Given the description of an element on the screen output the (x, y) to click on. 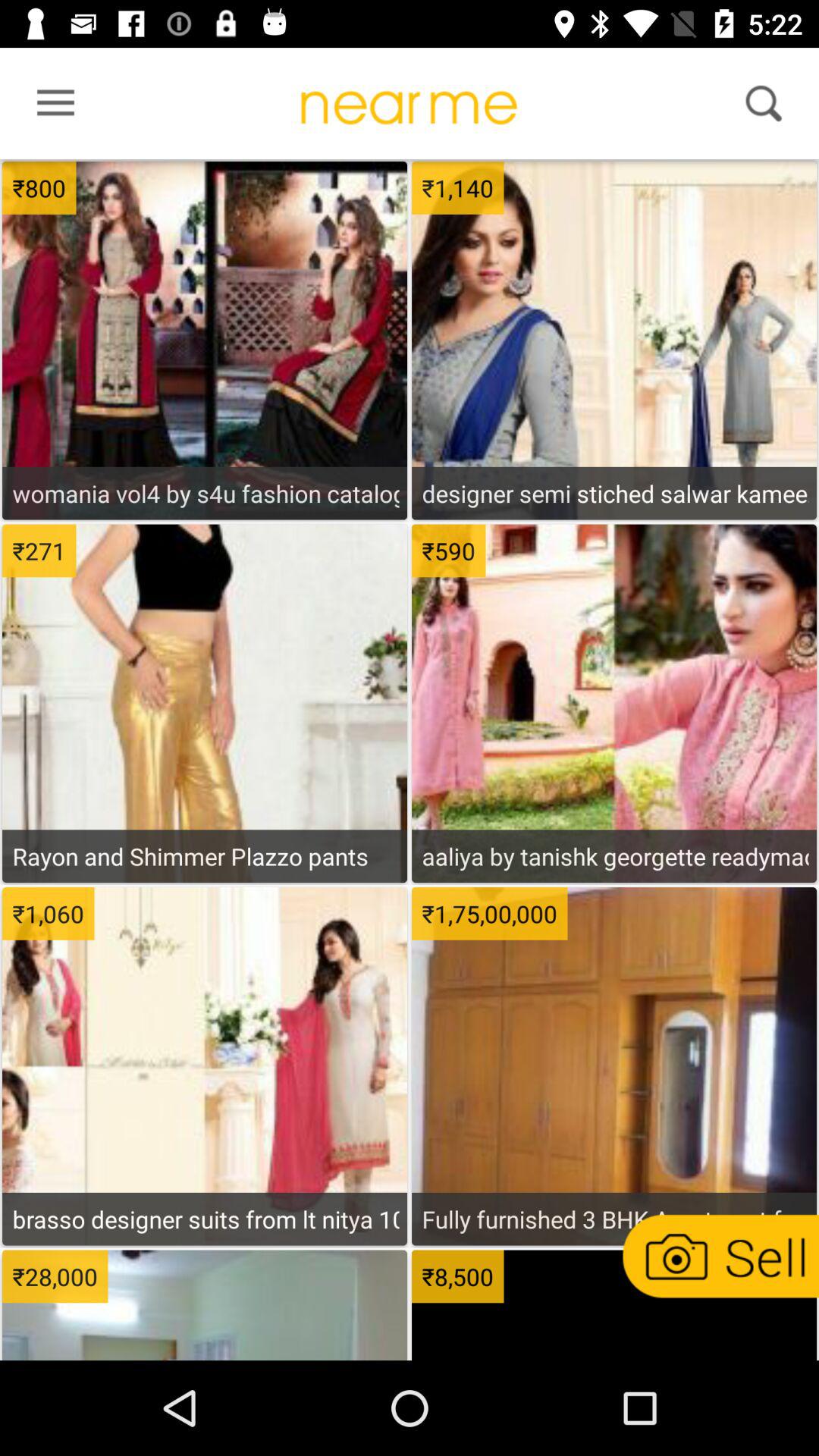
press the brasso designer suits (204, 1218)
